Given the description of an element on the screen output the (x, y) to click on. 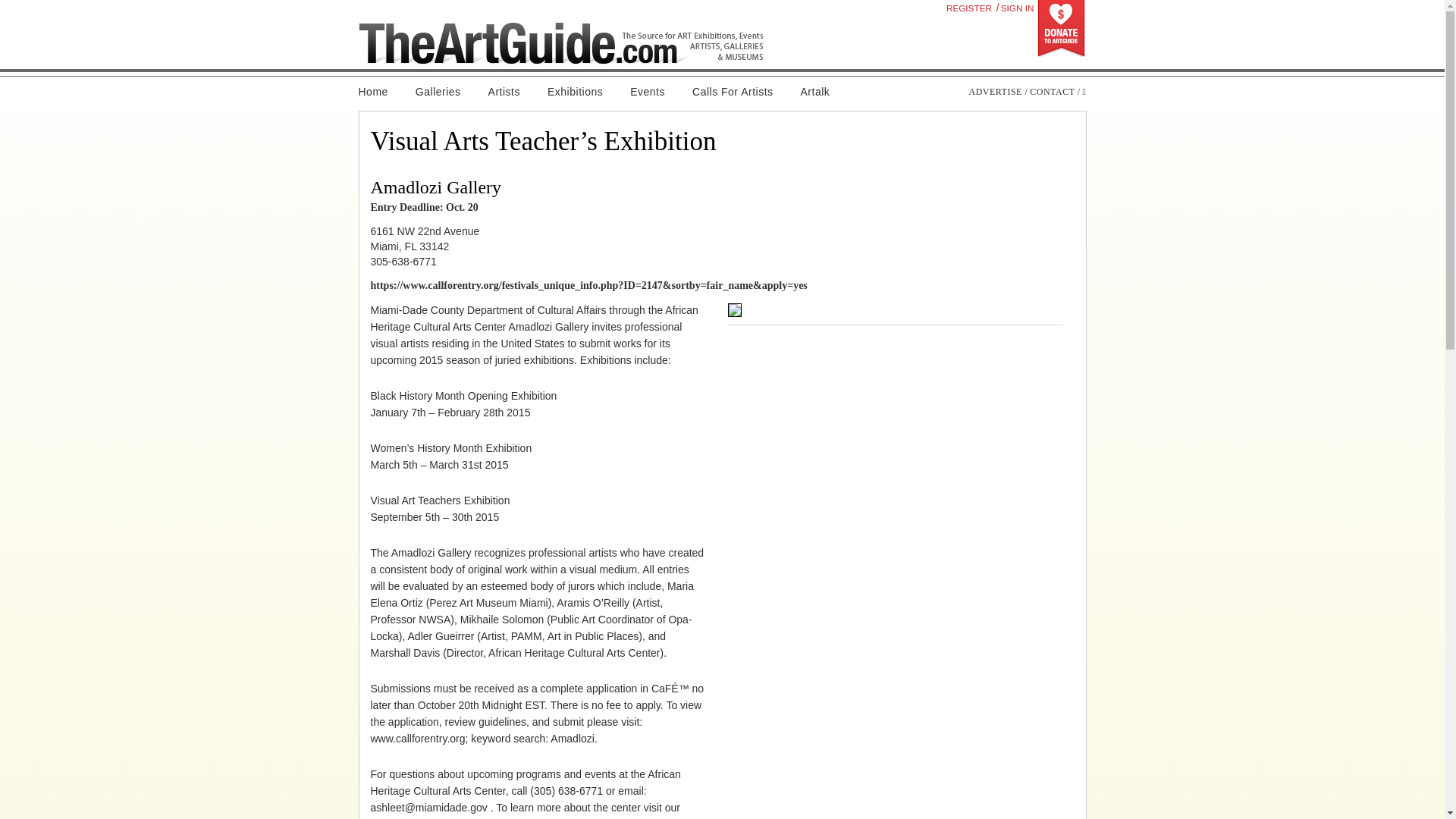
Home (379, 91)
Exhibitions (574, 91)
Calls For Artists (732, 91)
Artalk (815, 91)
SIGN IN (1016, 8)
Artists (504, 91)
REGISTER (968, 8)
Events (646, 91)
Galleries (437, 91)
